Given the description of an element on the screen output the (x, y) to click on. 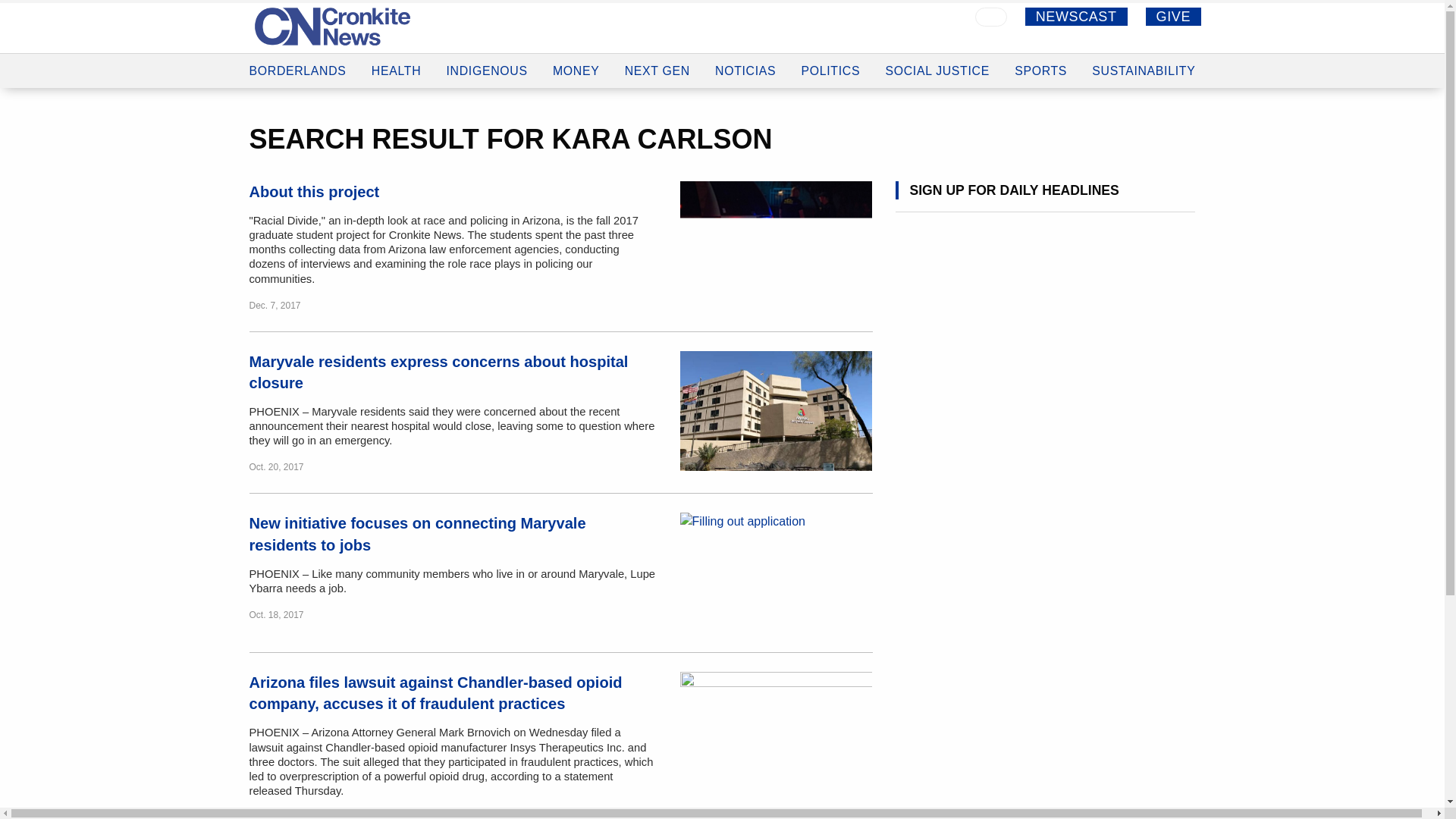
About this project (313, 191)
SPORTS (1040, 65)
BORDERLANDS (297, 47)
HEALTH (395, 51)
NEWSCAST (1075, 16)
POLITICS (831, 63)
SOCIAL JUSTICE (937, 65)
NEXT GEN (657, 60)
